Given the description of an element on the screen output the (x, y) to click on. 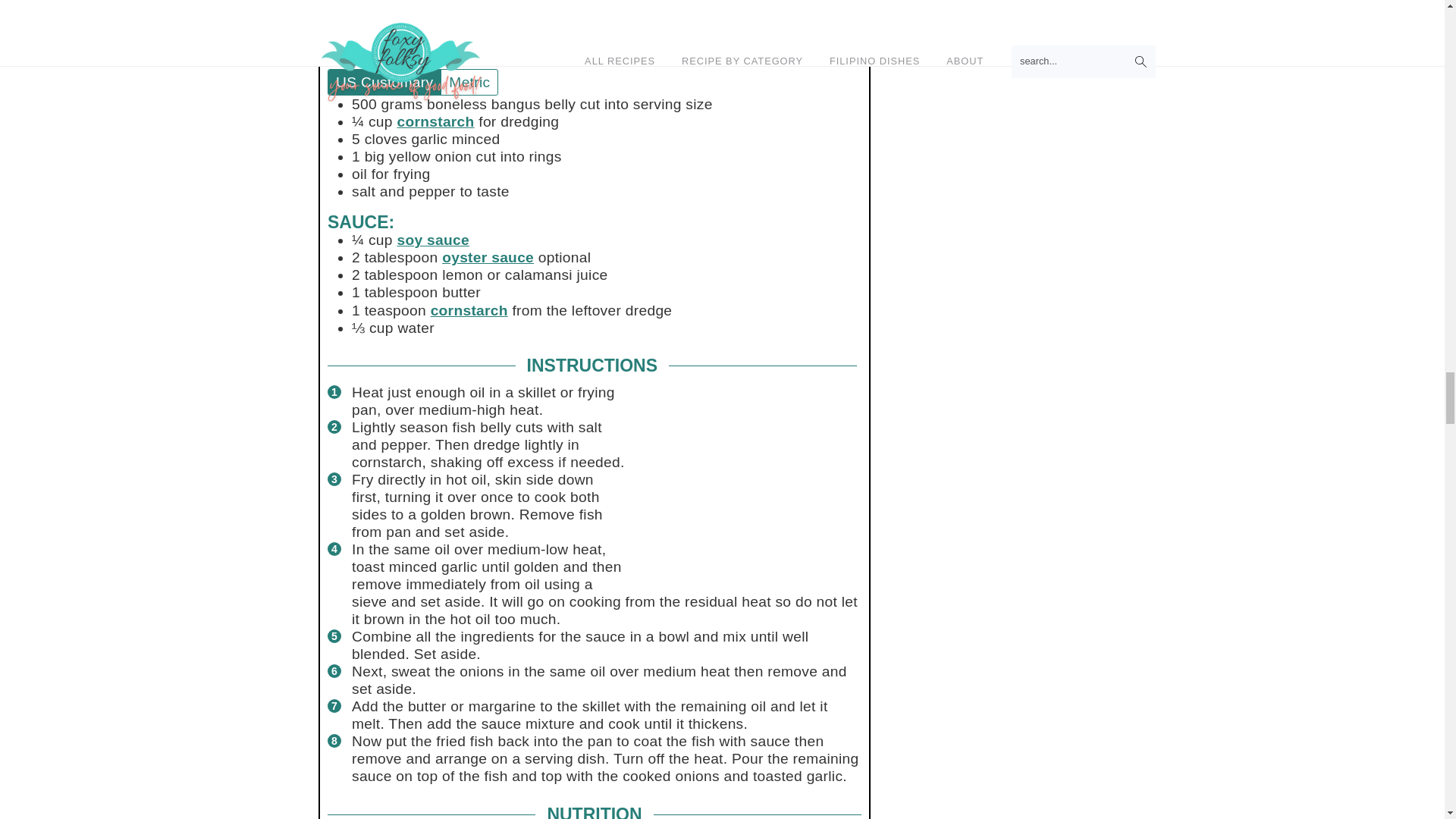
YouTube video player (594, 4)
